Given the description of an element on the screen output the (x, y) to click on. 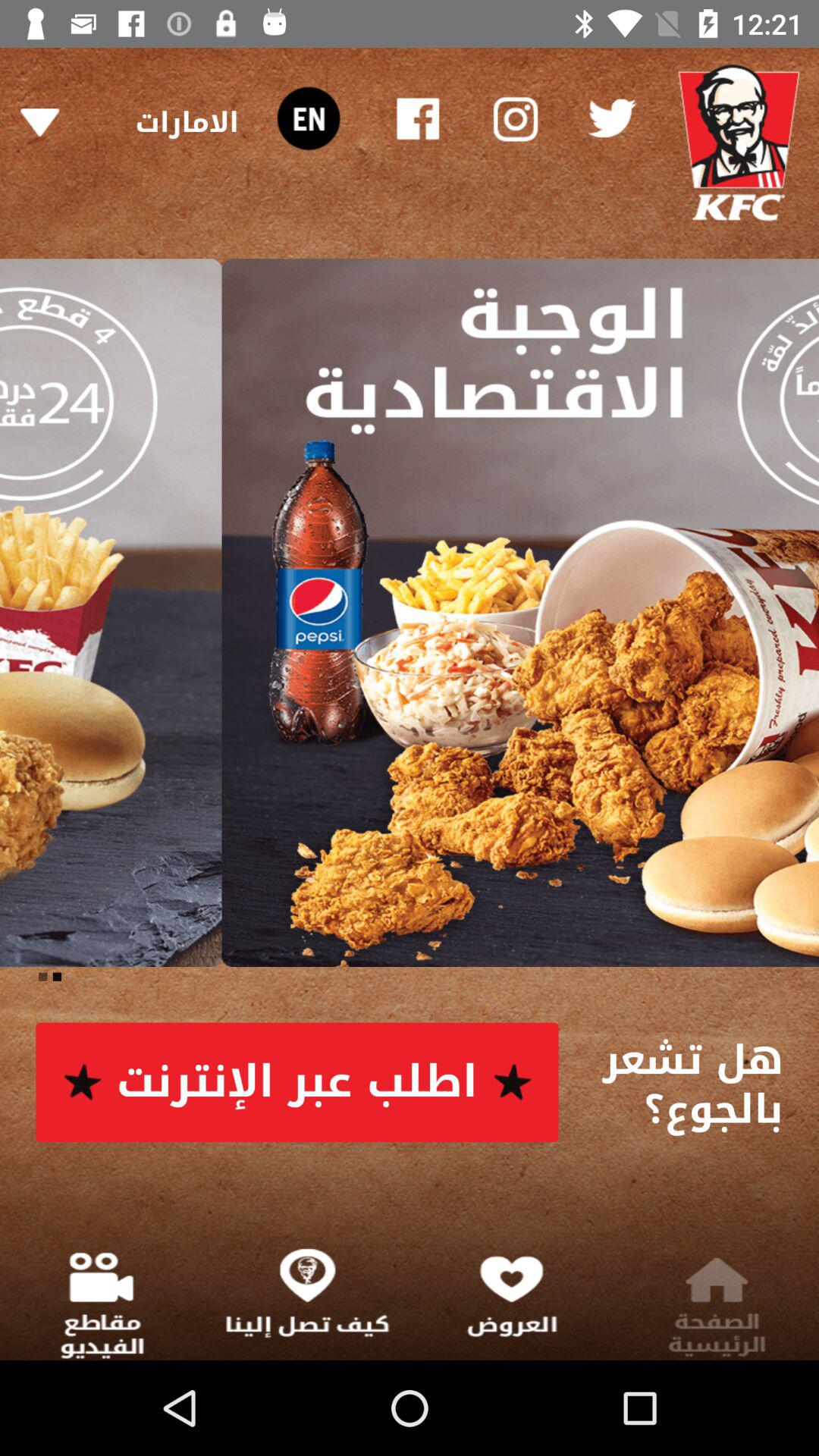
select the twitter icon left to kfc icon (611, 118)
